Given the description of an element on the screen output the (x, y) to click on. 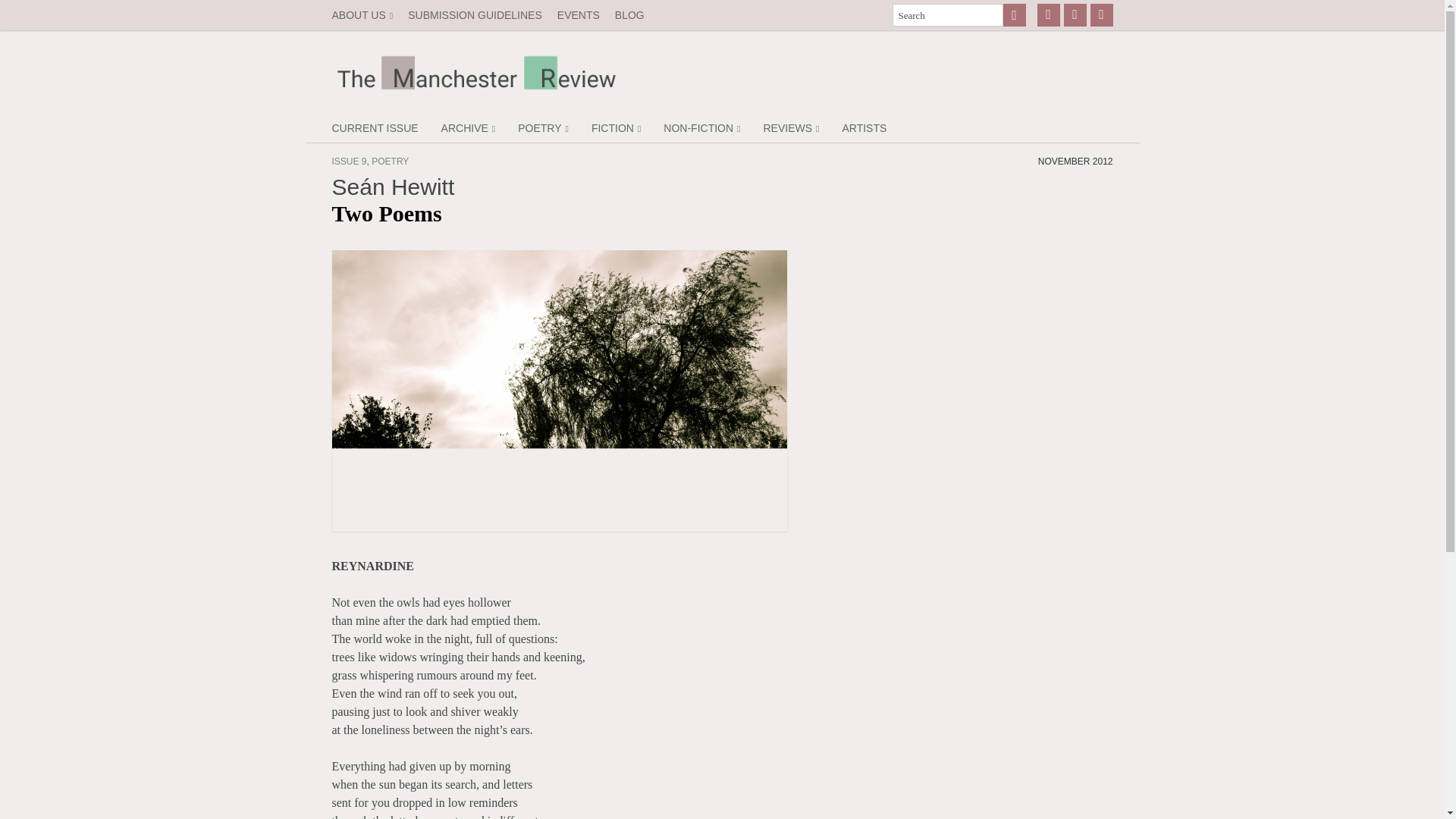
EVENTS (578, 15)
BLOG (629, 15)
CURRENT ISSUE (374, 127)
Go (1014, 15)
Search (947, 15)
SUBMISSION GUIDELINES (475, 15)
Two Poems (386, 213)
The Manchester Review (722, 72)
ARCHIVE (467, 127)
ABOUT US (362, 15)
